Given the description of an element on the screen output the (x, y) to click on. 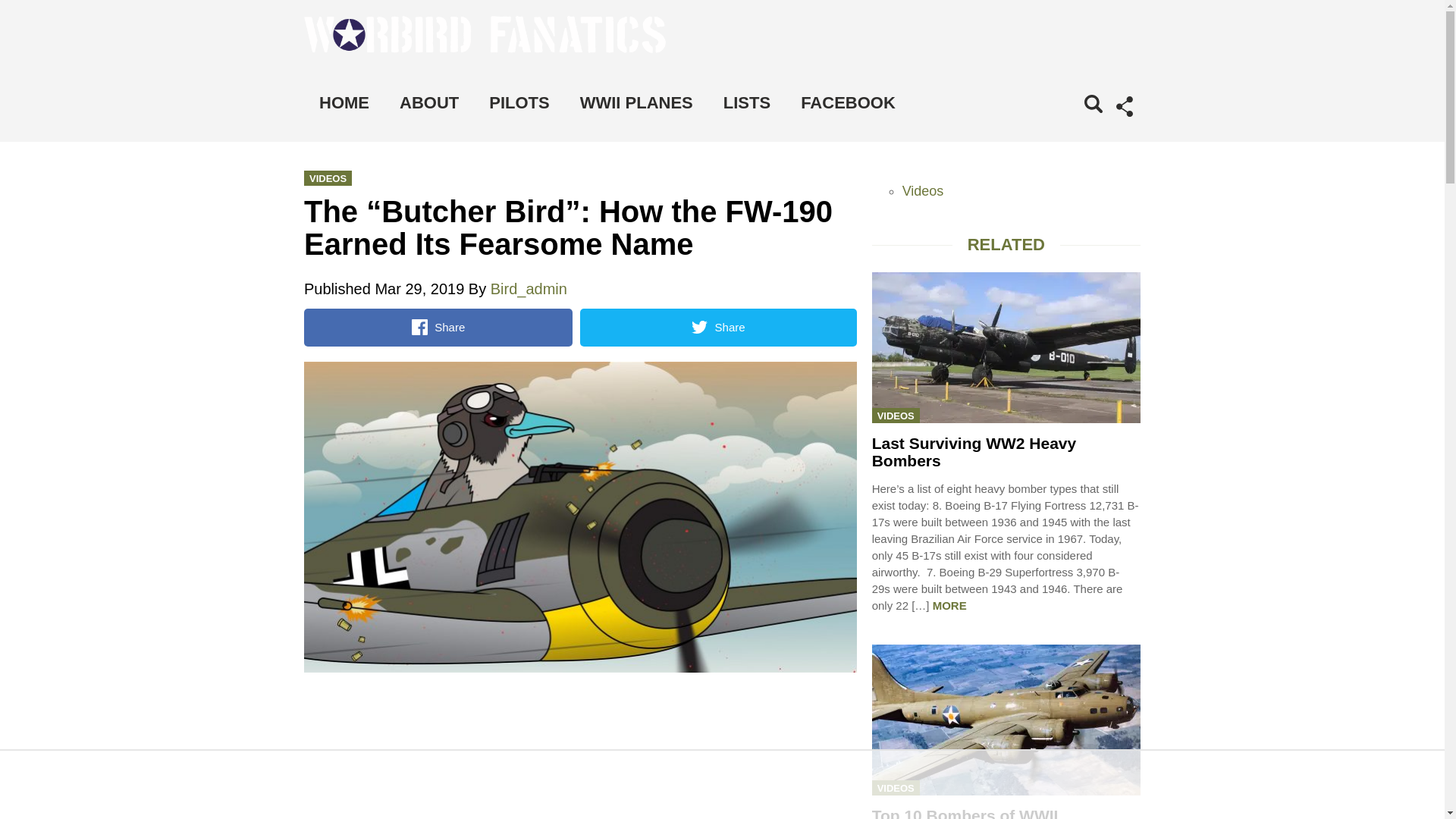
VIDEOS (896, 787)
HOME (344, 102)
FACEBOOK (848, 102)
Search (1071, 124)
Search (1071, 124)
MORE (949, 604)
PILOTS (519, 102)
VIDEOS (328, 177)
LISTS (746, 102)
ABOUT (429, 102)
